Given the description of an element on the screen output the (x, y) to click on. 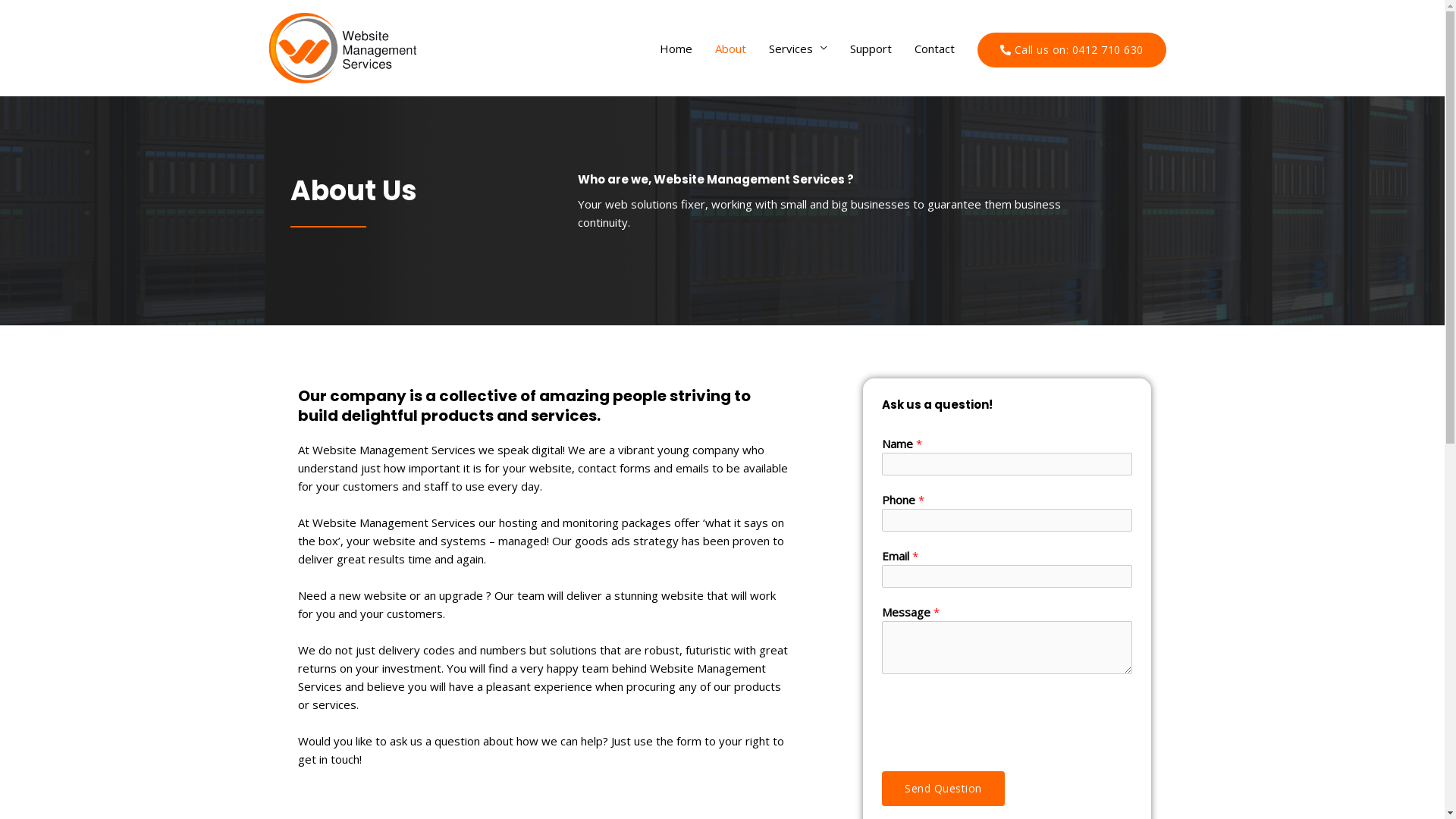
Support Element type: text (870, 48)
About Element type: text (730, 48)
Send Question Element type: text (942, 788)
Contact Element type: text (933, 48)
Home Element type: text (674, 48)
Call us on: 0412 710 630 Element type: text (1070, 49)
Services Element type: text (796, 48)
Call us on: 0412 710 630 Element type: text (1070, 49)
reCAPTCHA Element type: hover (996, 718)
